Given the description of an element on the screen output the (x, y) to click on. 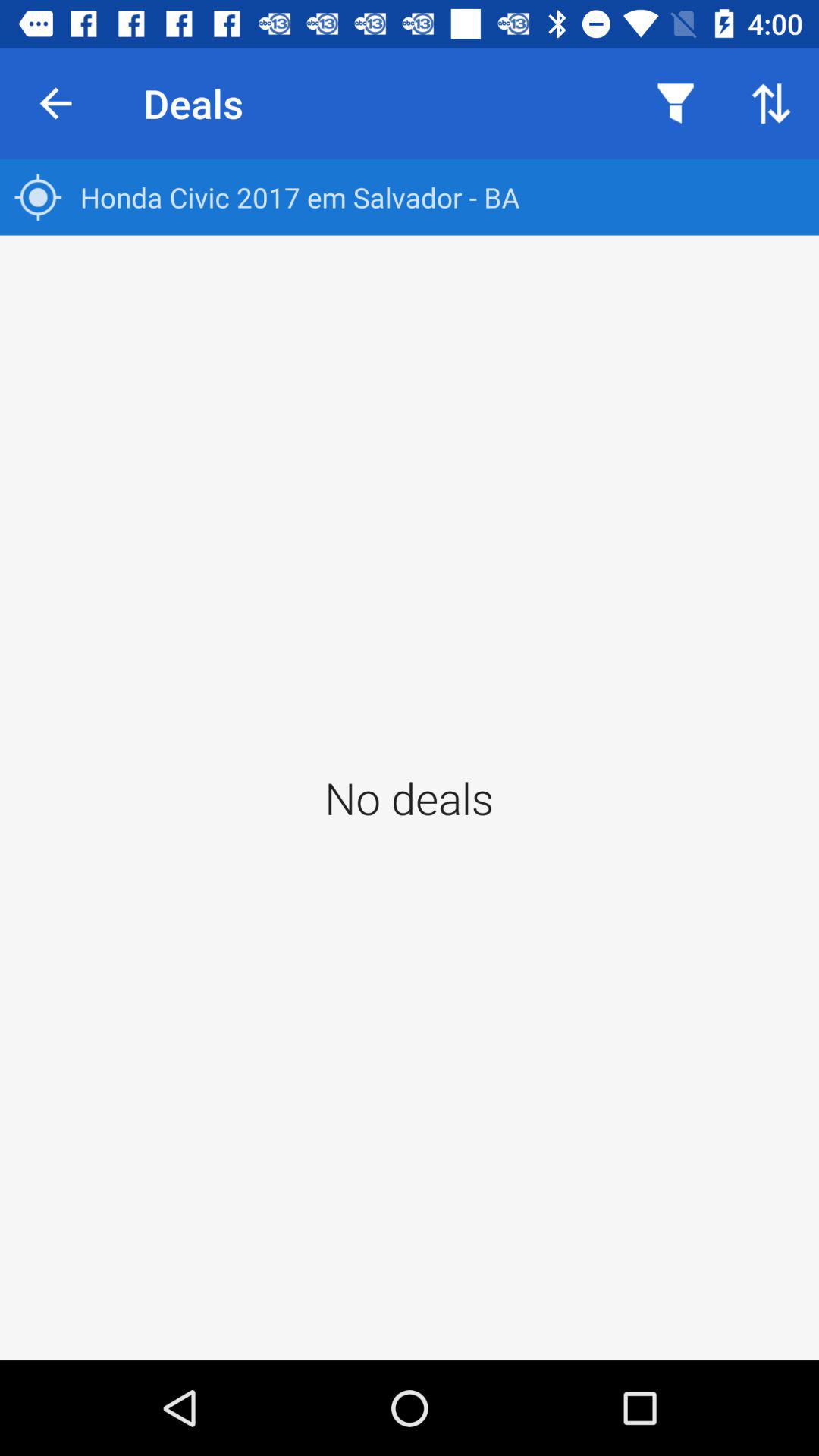
tap item above the honda civic 2017 item (771, 103)
